Given the description of an element on the screen output the (x, y) to click on. 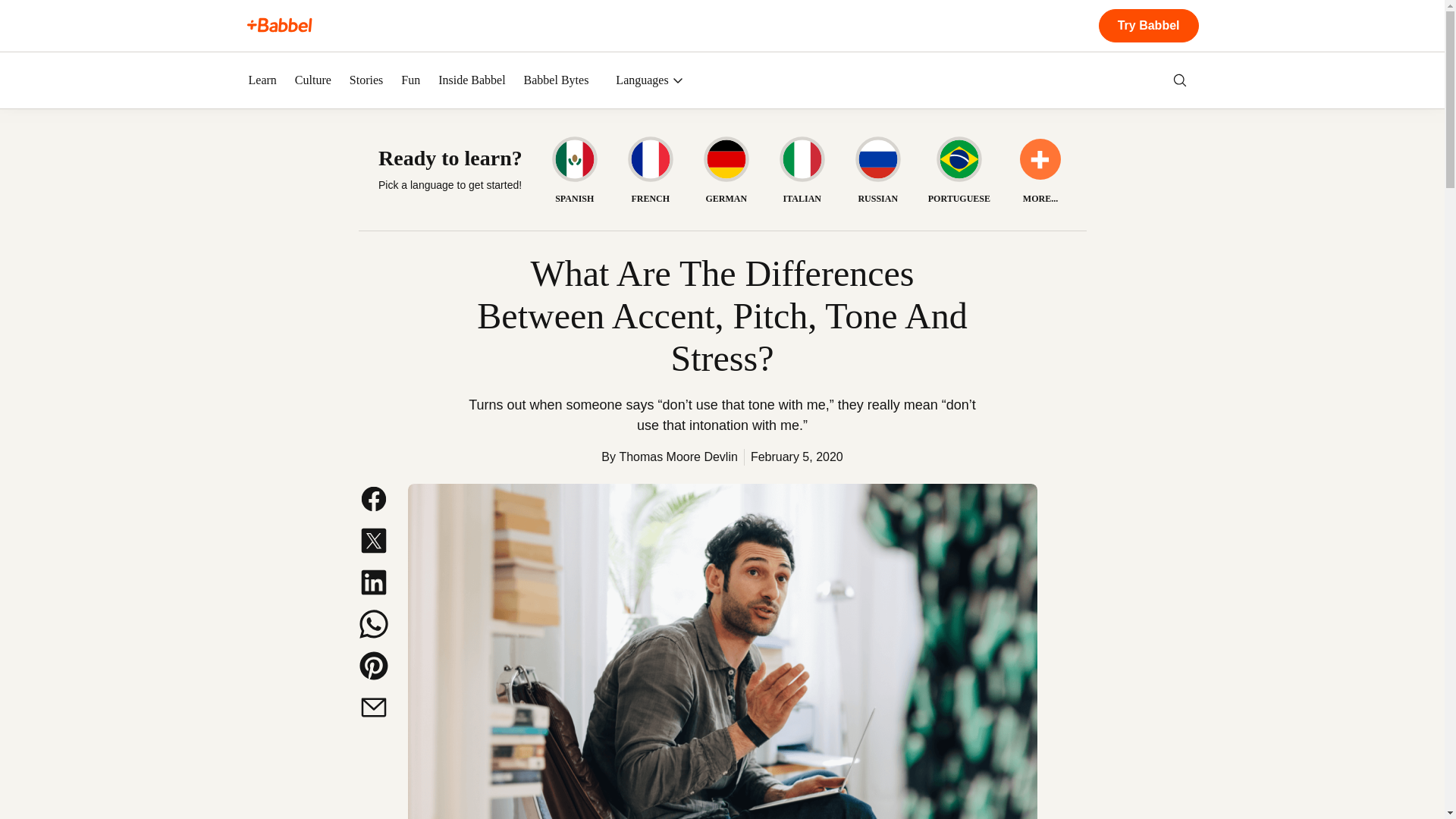
Toggle Search (1179, 80)
Learn (262, 79)
Languages (650, 80)
Fun (410, 79)
Babbel Bytes (556, 79)
Stories (365, 79)
Culture (313, 79)
Inside Babbel (471, 79)
Try Babbel (1148, 25)
